Given the description of an element on the screen output the (x, y) to click on. 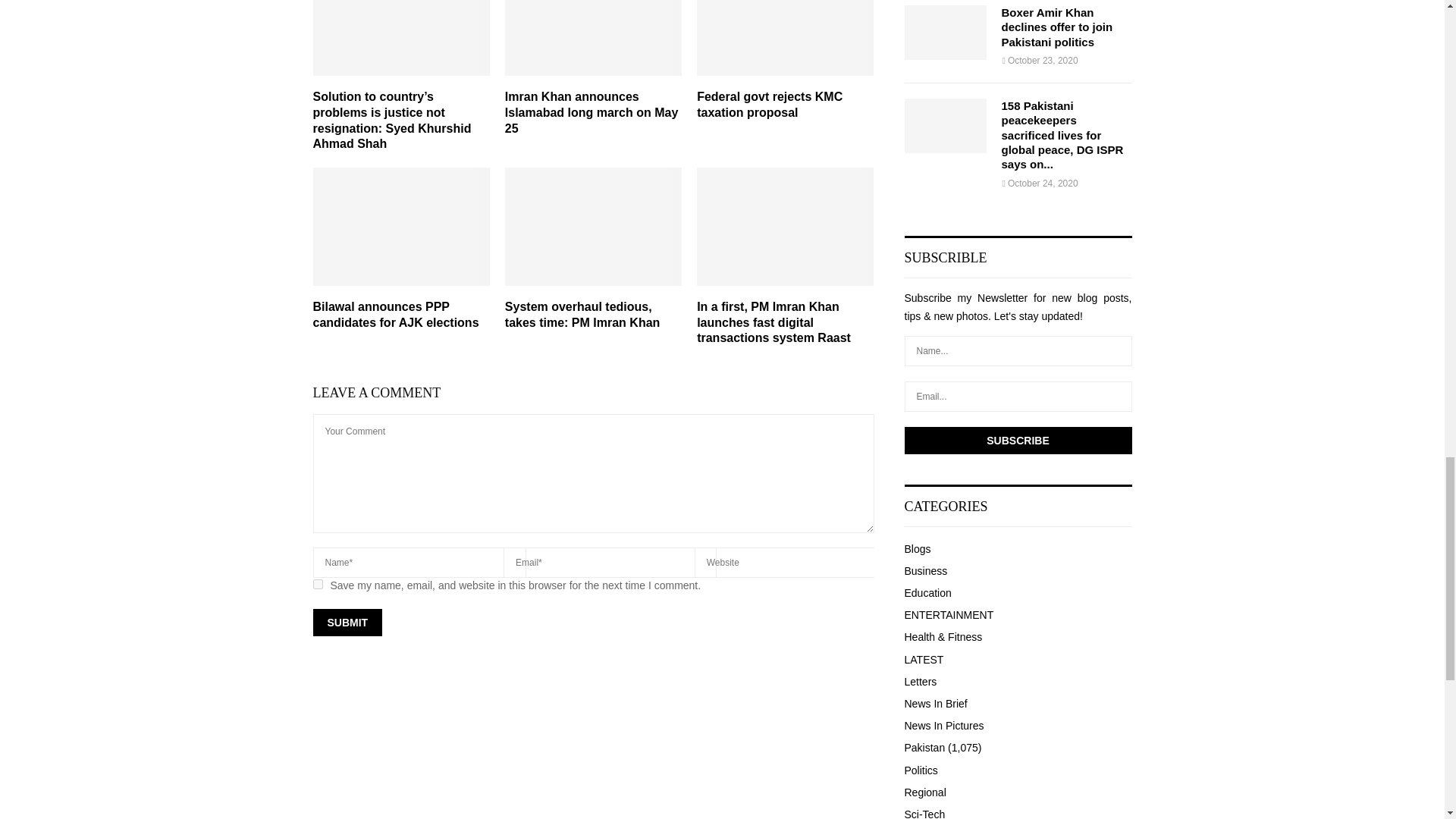
Submit (347, 622)
yes (317, 583)
Subscribe (1017, 440)
